Given the description of an element on the screen output the (x, y) to click on. 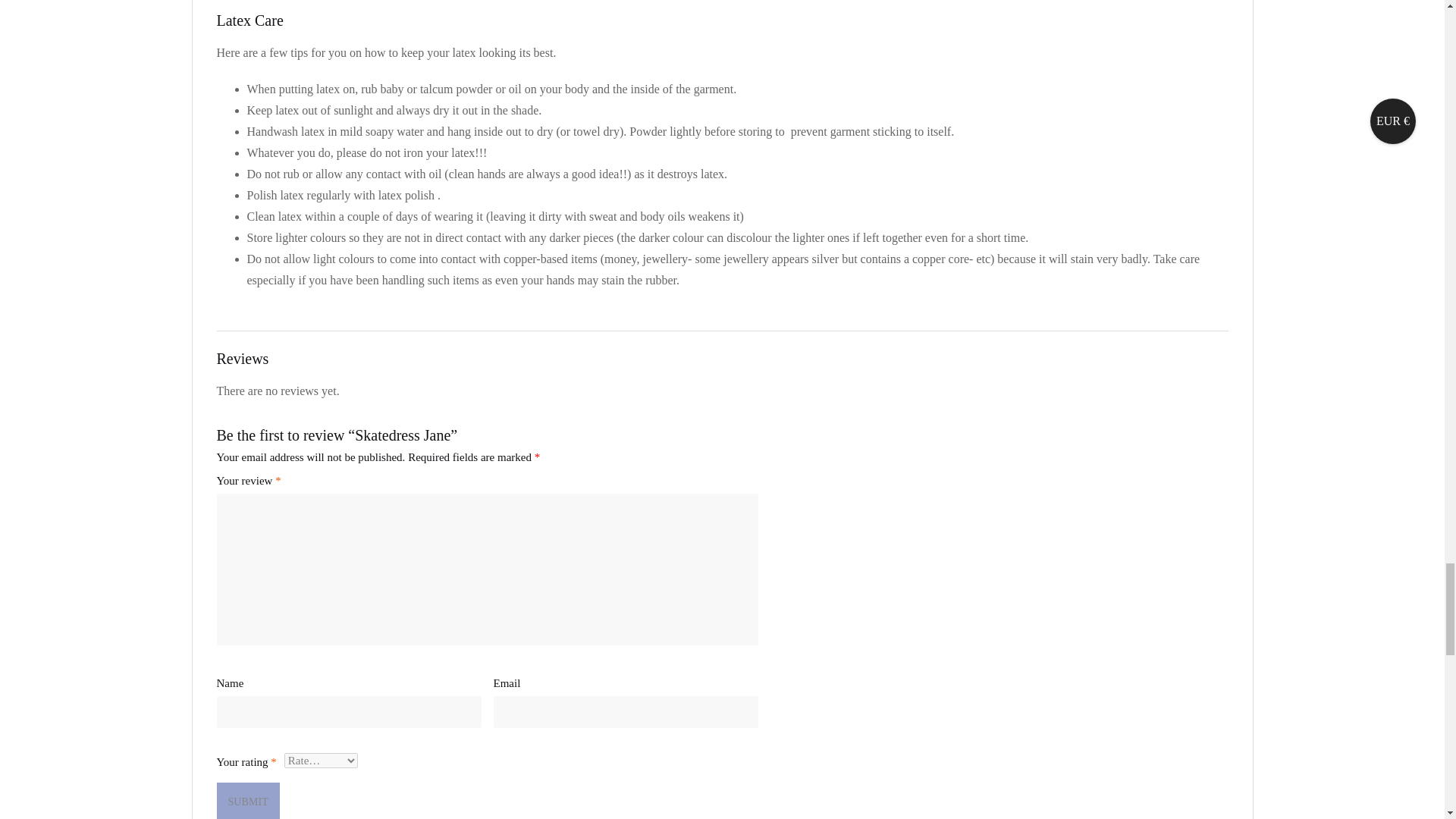
Submit (247, 800)
